Given the description of an element on the screen output the (x, y) to click on. 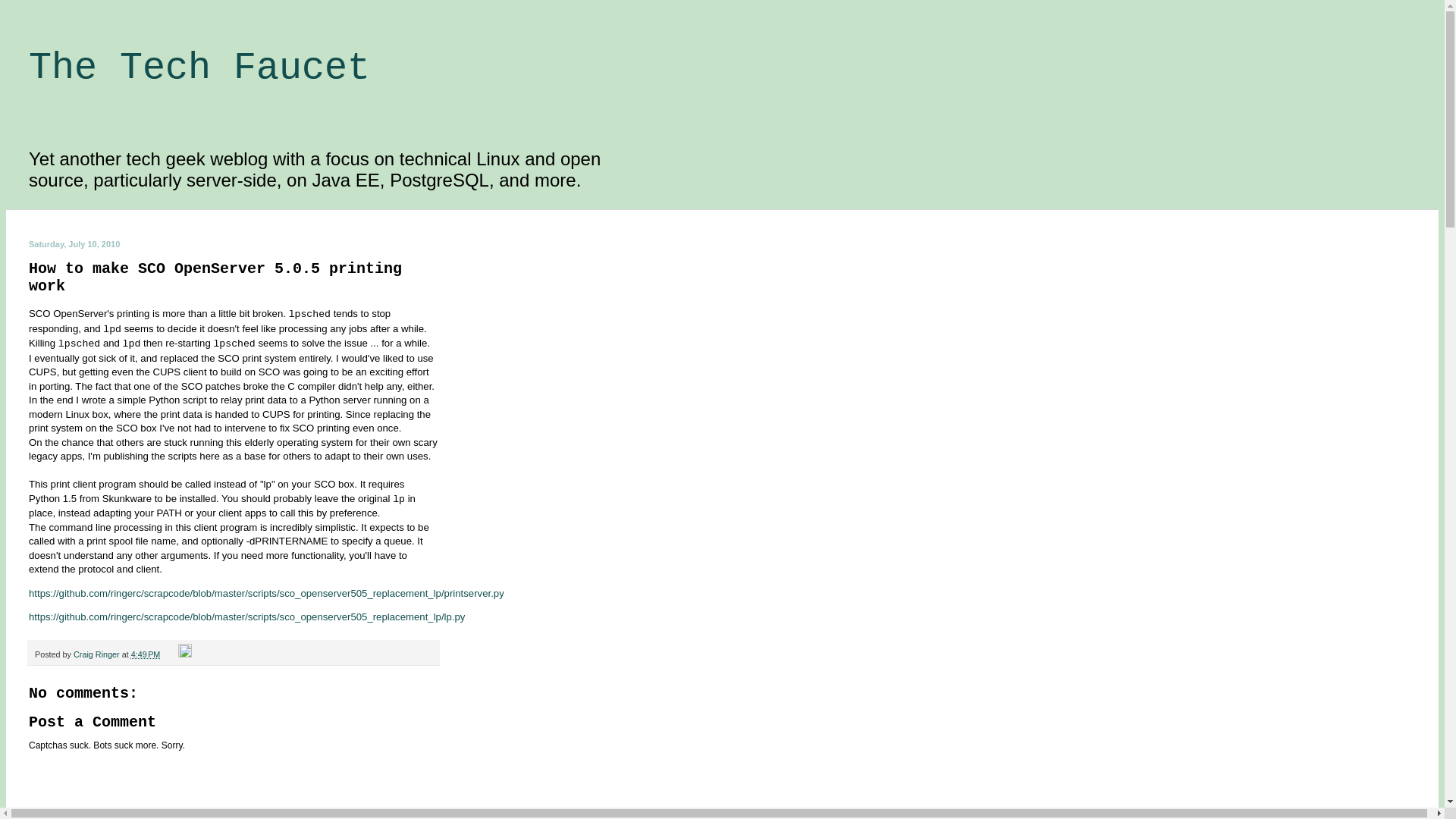
Edit Post Element type: hover (184, 653)
Craig Ringer Element type: text (97, 653)
Email Post Element type: hover (170, 653)
The Tech Faucet Element type: text (199, 68)
